Given the description of an element on the screen output the (x, y) to click on. 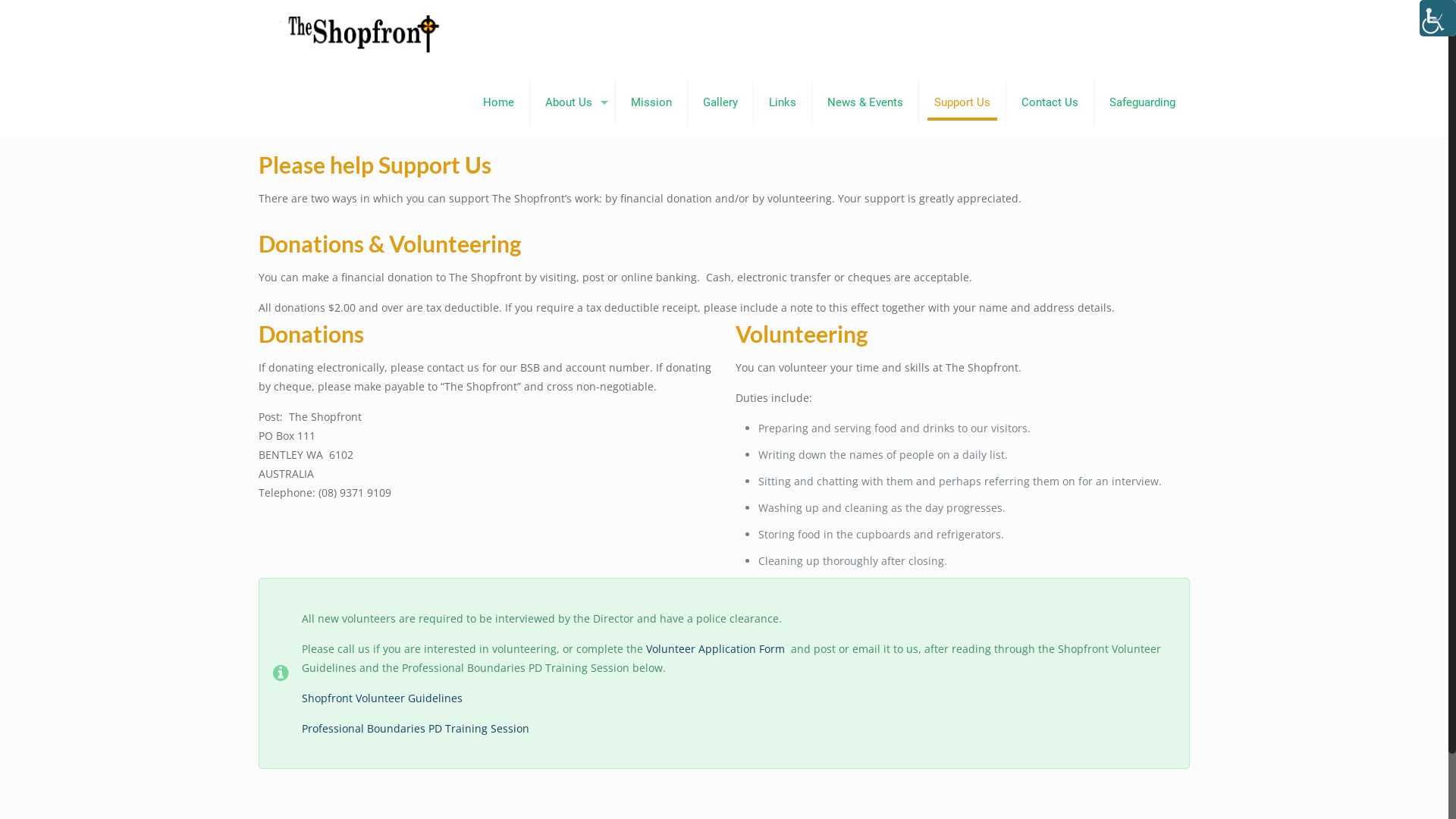
Mission Element type: text (651, 102)
News & Events Element type: text (865, 102)
Support Us Element type: text (962, 102)
Professional Boundaries PD Training Session Element type: text (415, 728)
Contact Us Element type: text (1050, 102)
Shopfront Element type: hover (360, 34)
Gallery Element type: text (720, 102)
Home Element type: text (498, 102)
Shopfront Volunteer Guidelines Element type: text (381, 697)
Safeguarding Element type: text (1142, 102)
Links Element type: text (782, 102)
Volunteer Application Form  Element type: text (716, 648)
About Us Element type: text (572, 102)
